Given the description of an element on the screen output the (x, y) to click on. 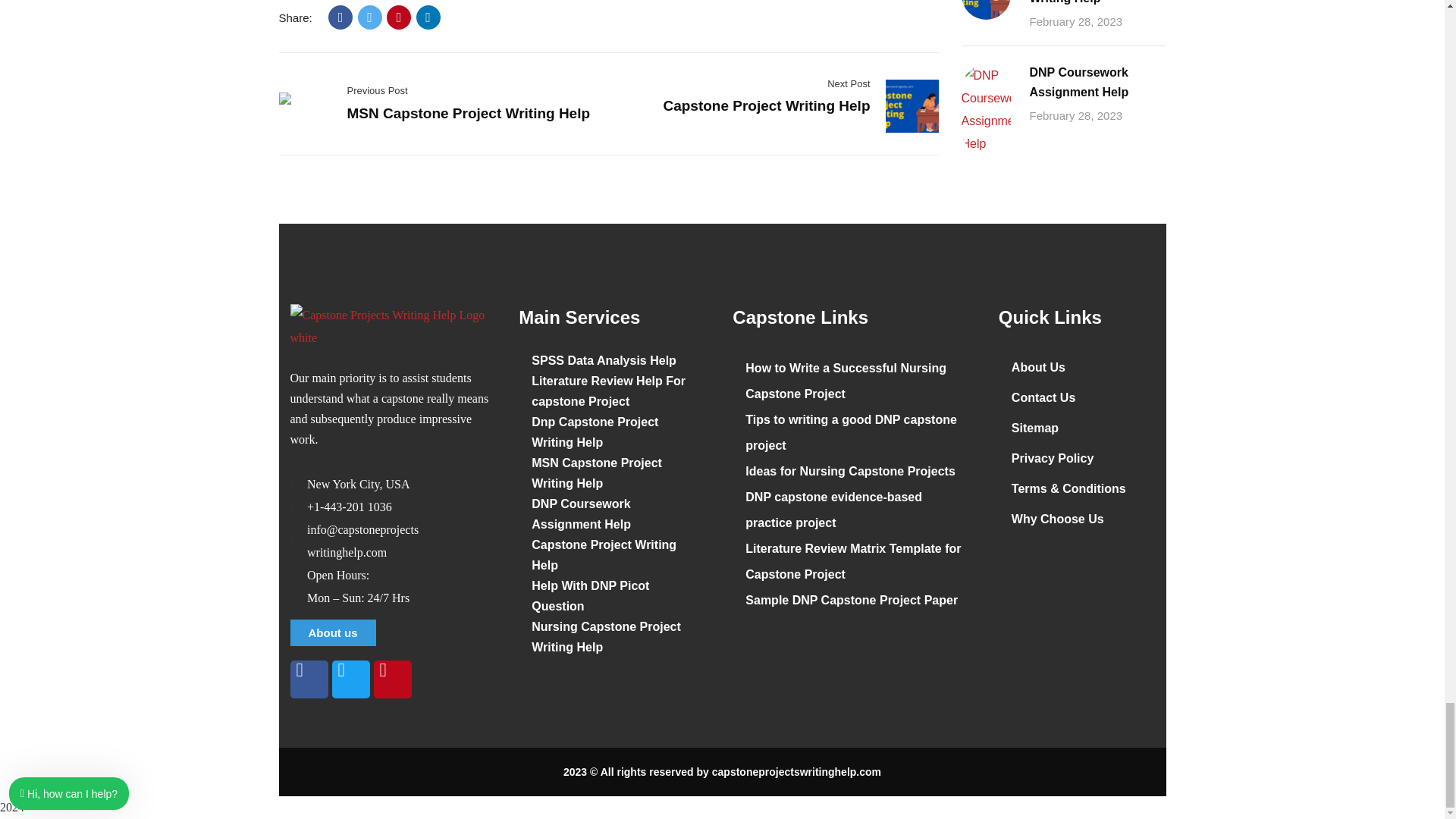
Facebook (340, 16)
Pinterest (398, 16)
Twitter (369, 16)
LinkedIn (428, 16)
